Given the description of an element on the screen output the (x, y) to click on. 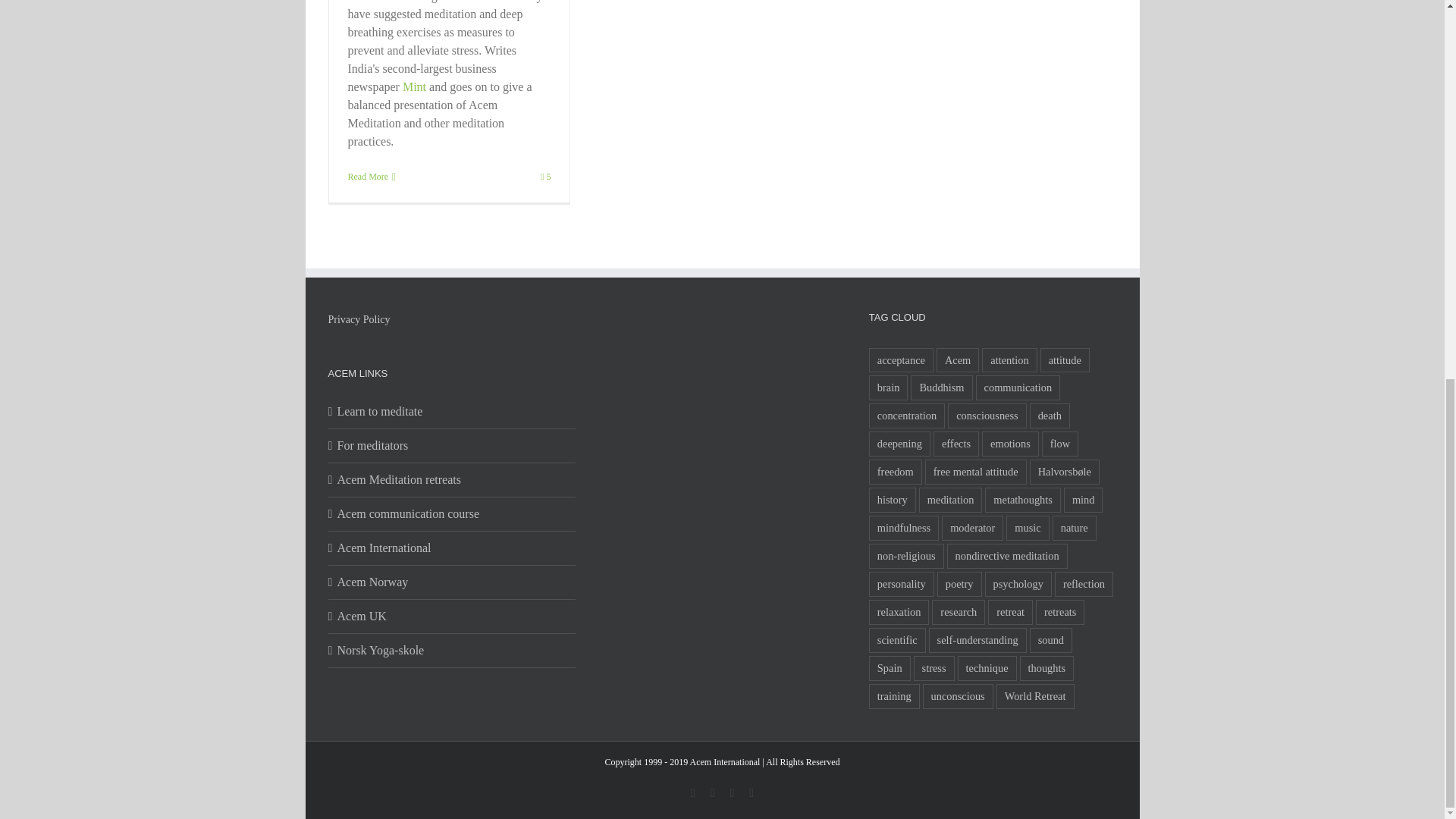
Acem UK (451, 616)
Read More (367, 176)
Acem communication course (451, 513)
Norsk Yoga-skole (451, 649)
Acem International (451, 547)
Acem Norway (451, 581)
Acem School of Yoga. In Norwegian. (451, 649)
Mint (414, 86)
For meditators (451, 444)
Acem Meditation retreats (451, 479)
Learn to meditate (451, 411)
In Norwegian (451, 581)
 5 (545, 176)
Privacy Policy (358, 319)
